Given the description of an element on the screen output the (x, y) to click on. 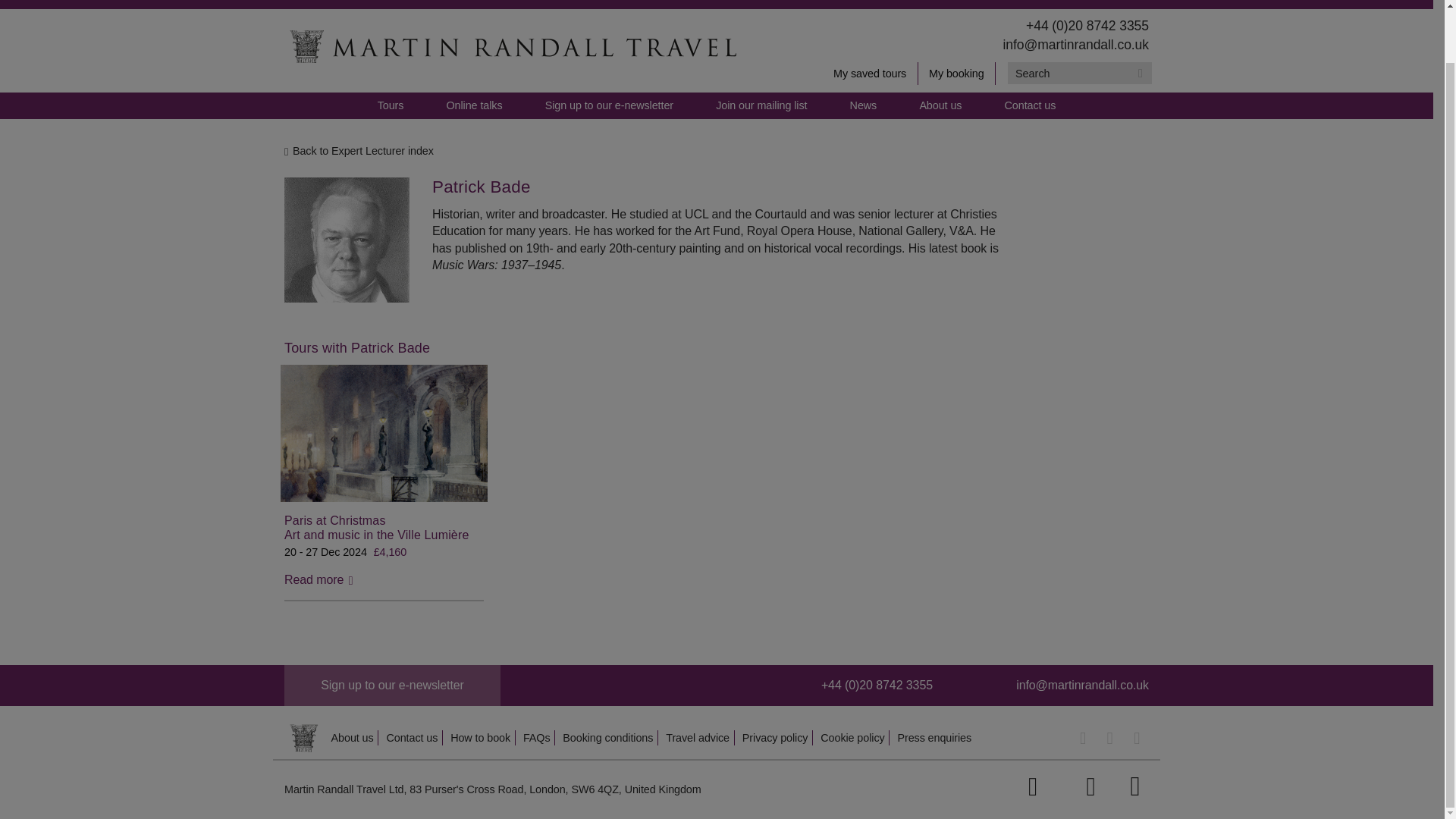
Back to Expert Lecturer index (710, 150)
News (862, 105)
My booking (956, 73)
Sign up to our e-newsletter (391, 685)
Join our mailing list (761, 105)
Online talks (474, 105)
Sign up to our e-newsletter (609, 105)
Martin Randall Travel (511, 46)
My saved tours (870, 73)
About us (940, 105)
Tours (390, 105)
Contact us (1030, 105)
